Given the description of an element on the screen output the (x, y) to click on. 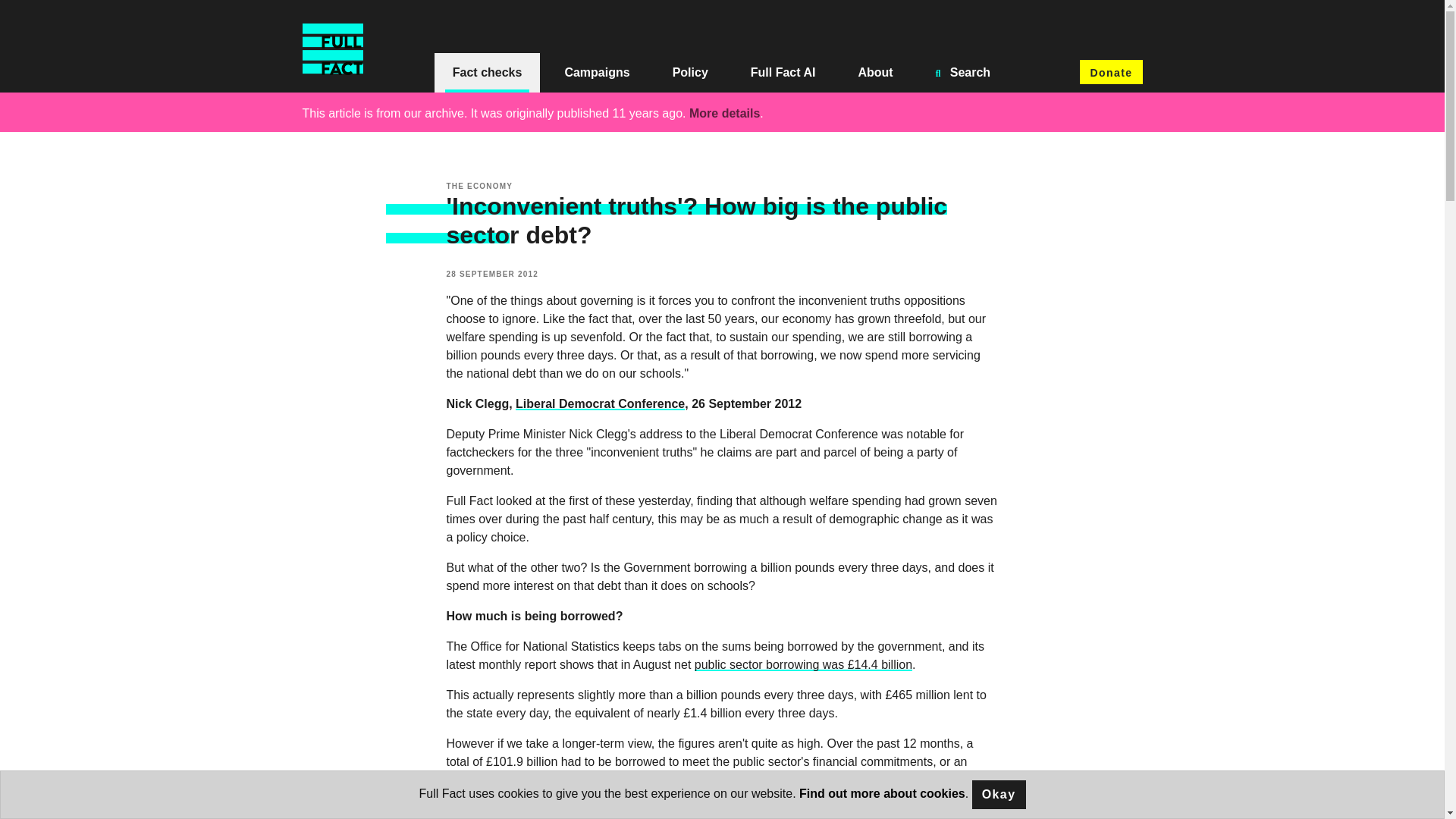
Donate (1110, 71)
Policy (689, 72)
Campaigns (596, 72)
Fact checks (486, 72)
Full Fact AI (783, 72)
About (875, 72)
